Given the description of an element on the screen output the (x, y) to click on. 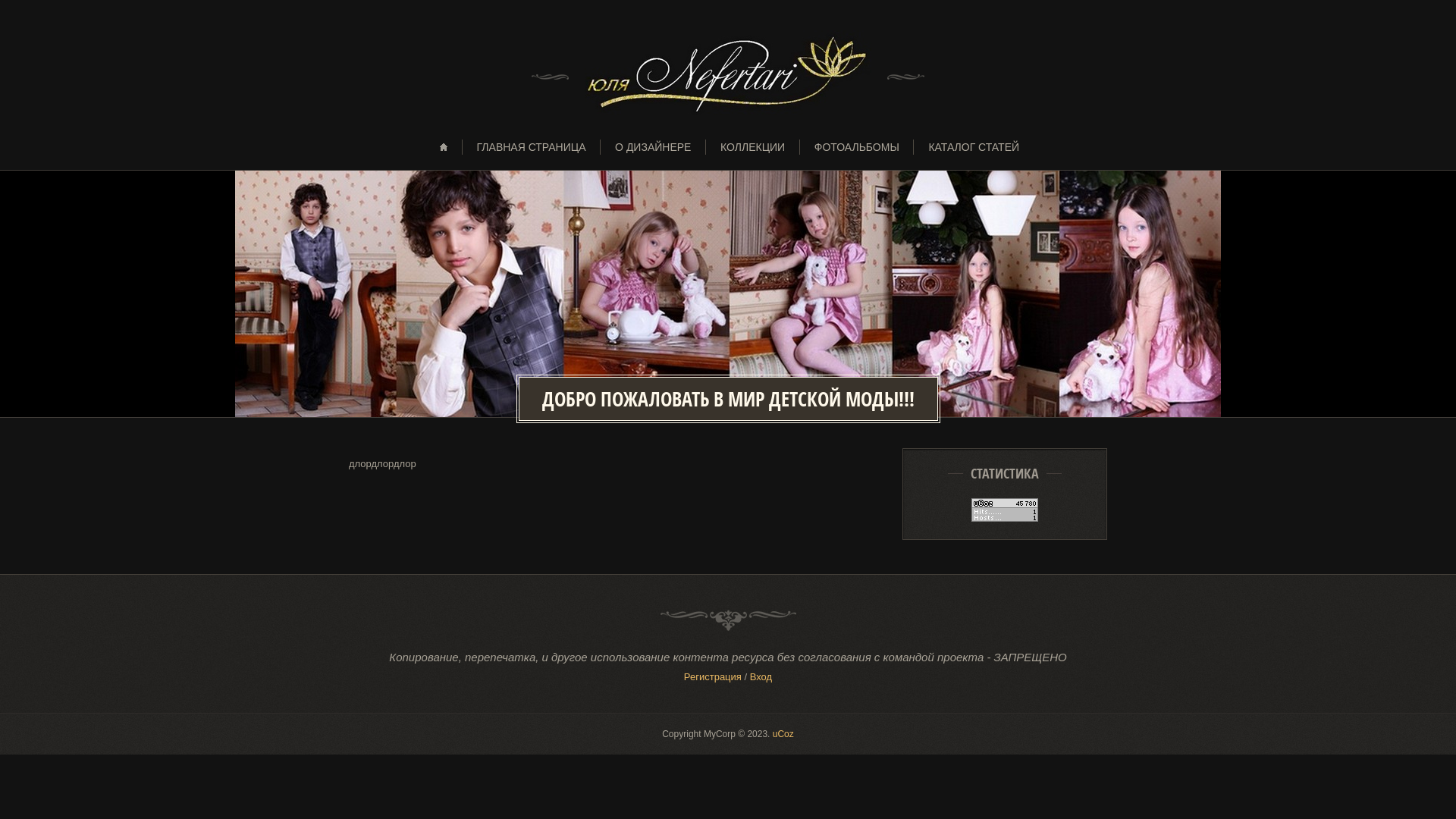
uCoz Element type: text (782, 733)
uCoz Counter Element type: hover (1004, 518)
